Given the description of an element on the screen output the (x, y) to click on. 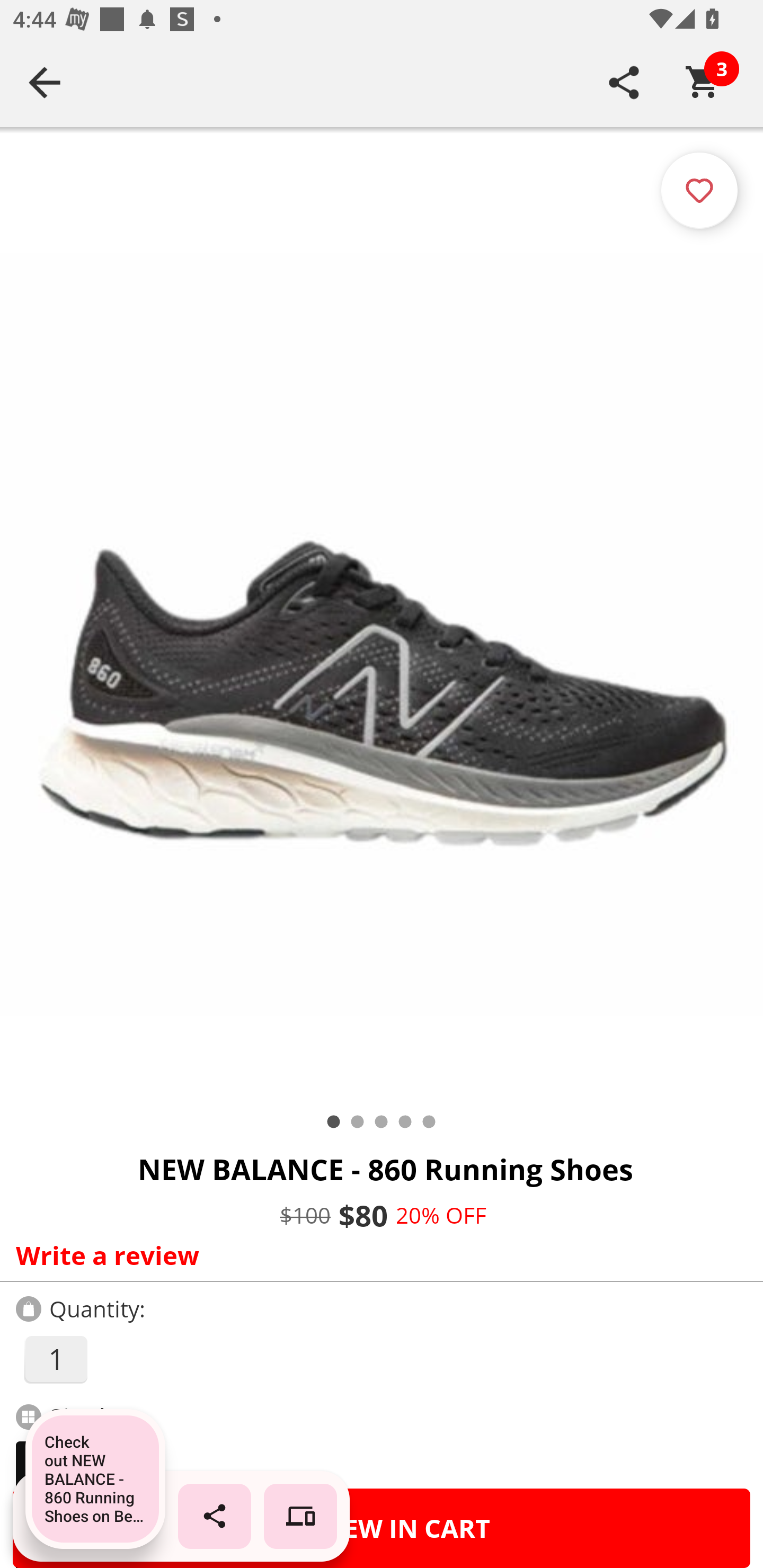
Navigate up (44, 82)
SHARE (623, 82)
Cart (703, 81)
Write a review (377, 1255)
1 (55, 1358)
